Given the description of an element on the screen output the (x, y) to click on. 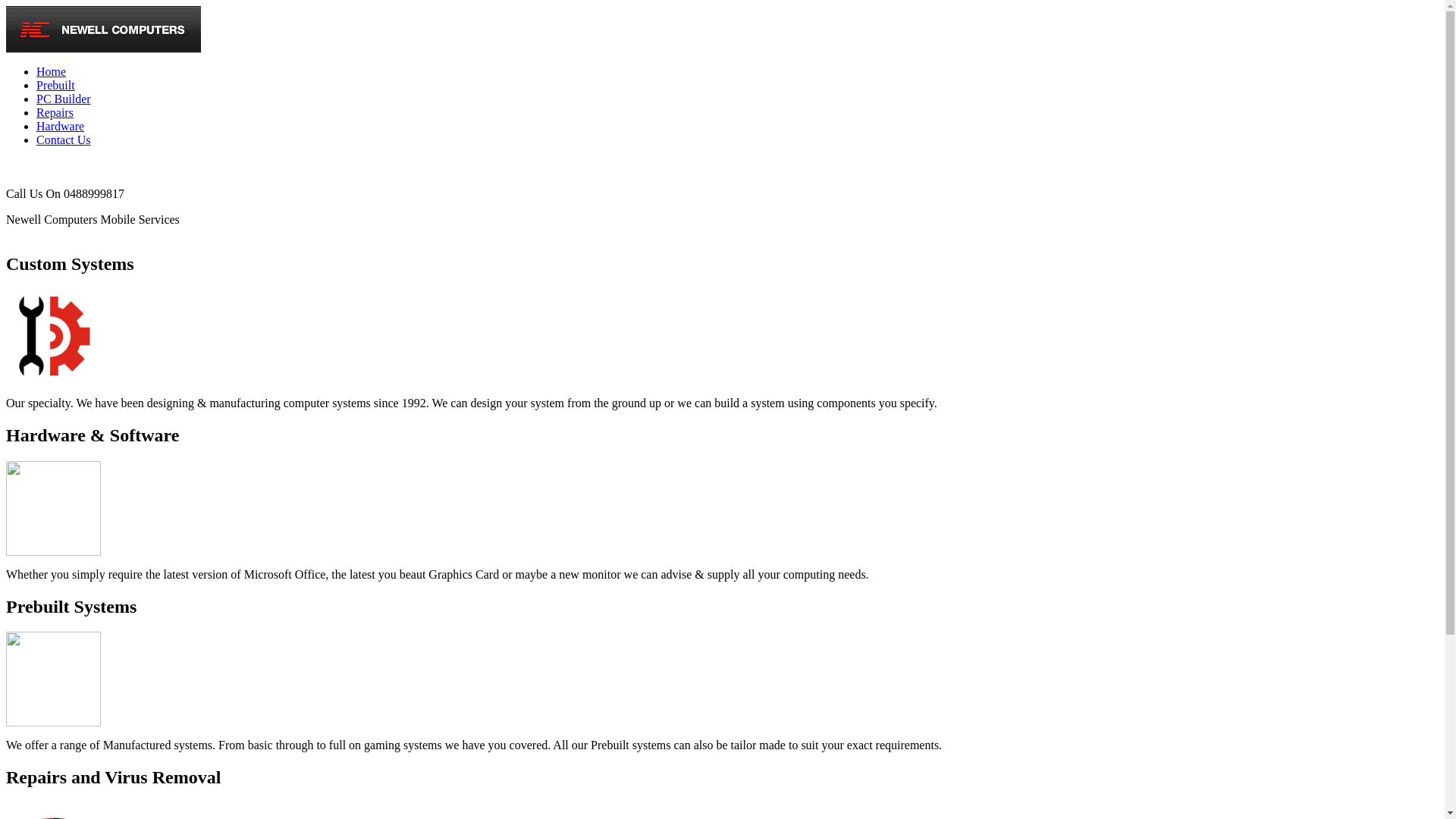
Repairs Element type: text (54, 112)
Home Element type: text (50, 71)
PC Builder Element type: text (63, 98)
Prebuilt Element type: text (55, 84)
Hardware Element type: text (60, 125)
Contact Us Element type: text (63, 139)
